Given the description of an element on the screen output the (x, y) to click on. 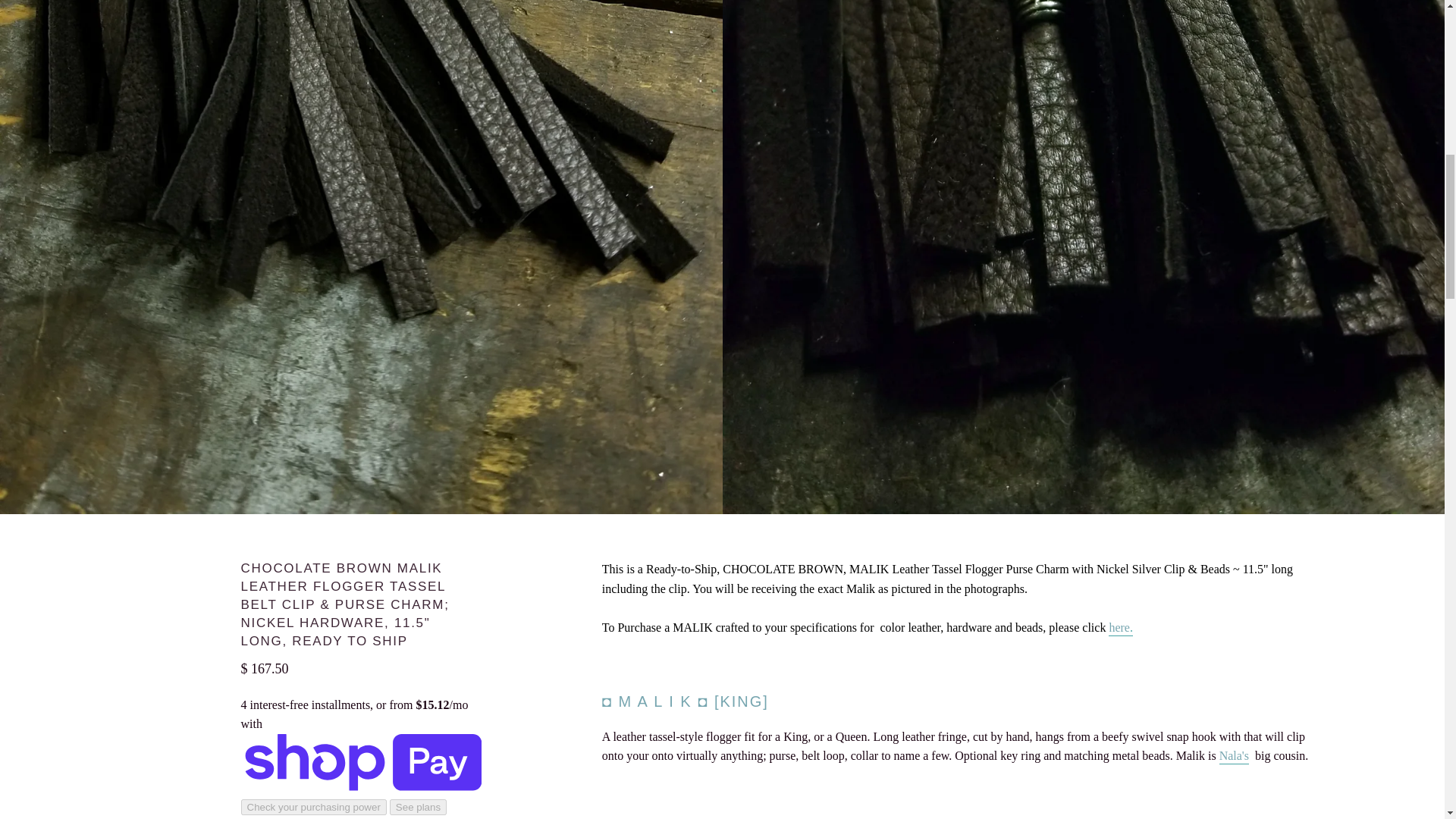
nala fringe tassel flogger style key chain (1234, 756)
